Given the description of an element on the screen output the (x, y) to click on. 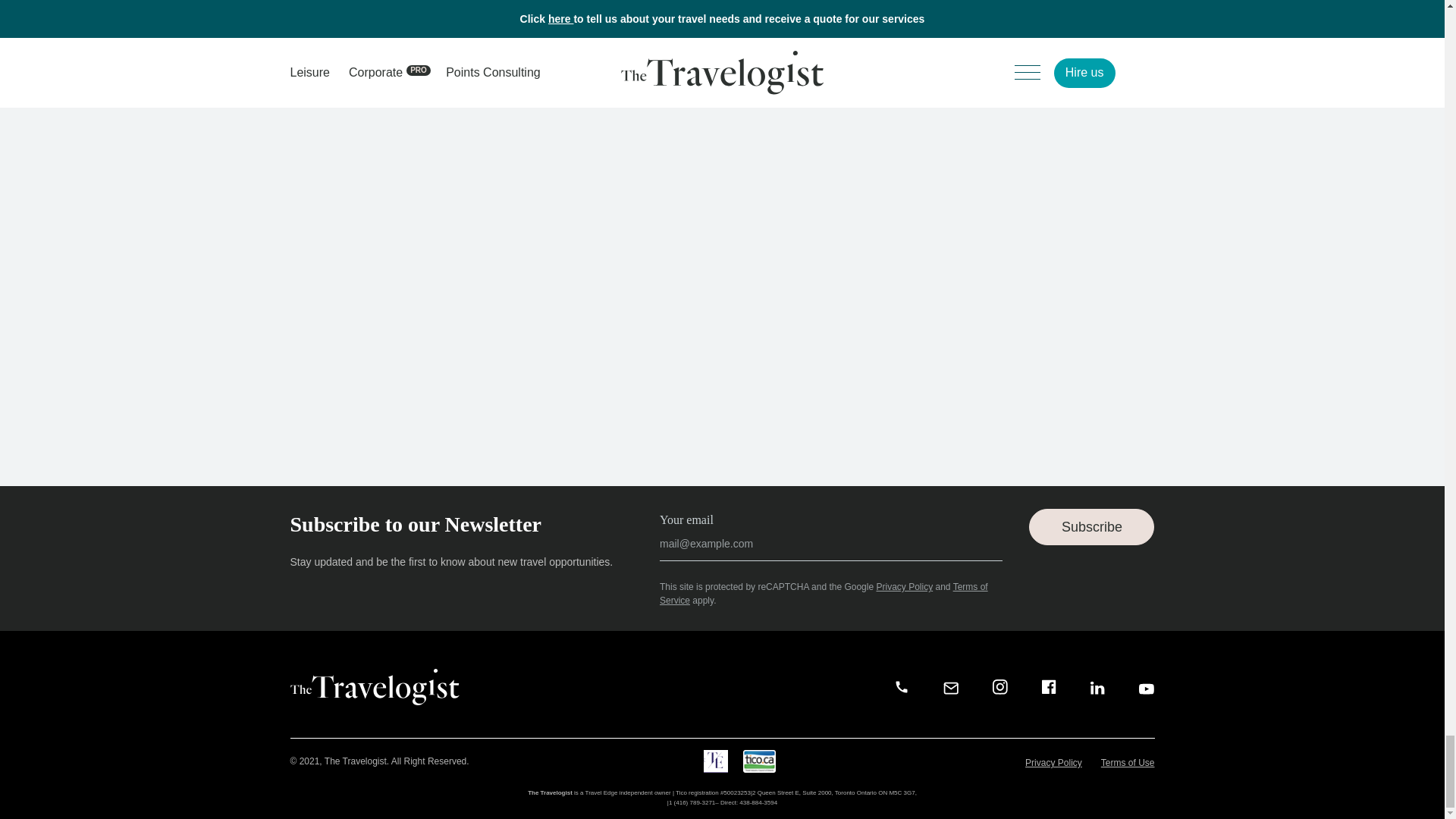
Subscribe (709, 624)
Privacy Policy (904, 586)
Subscribe (1091, 526)
Terms of Service (823, 593)
